Given the description of an element on the screen output the (x, y) to click on. 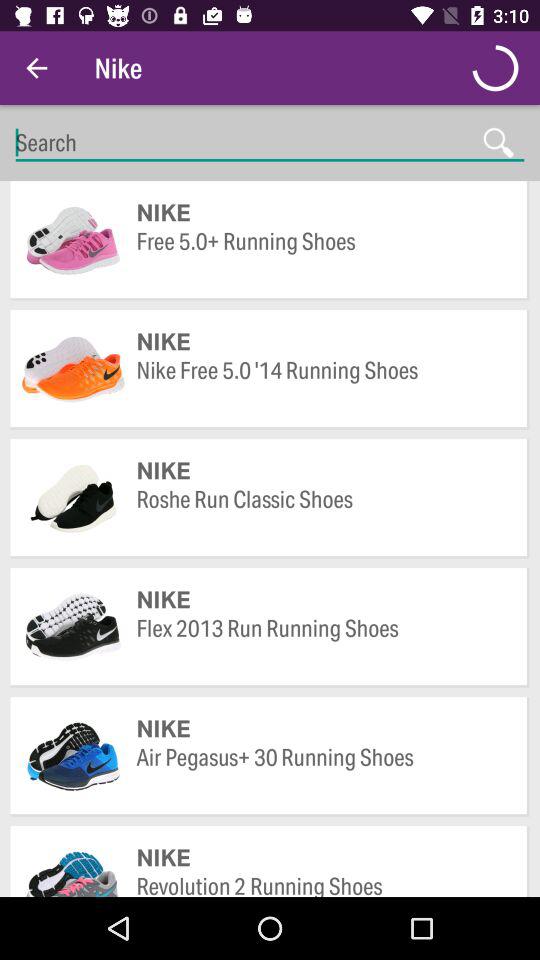
turn on the air pegasus 30 (322, 772)
